Given the description of an element on the screen output the (x, y) to click on. 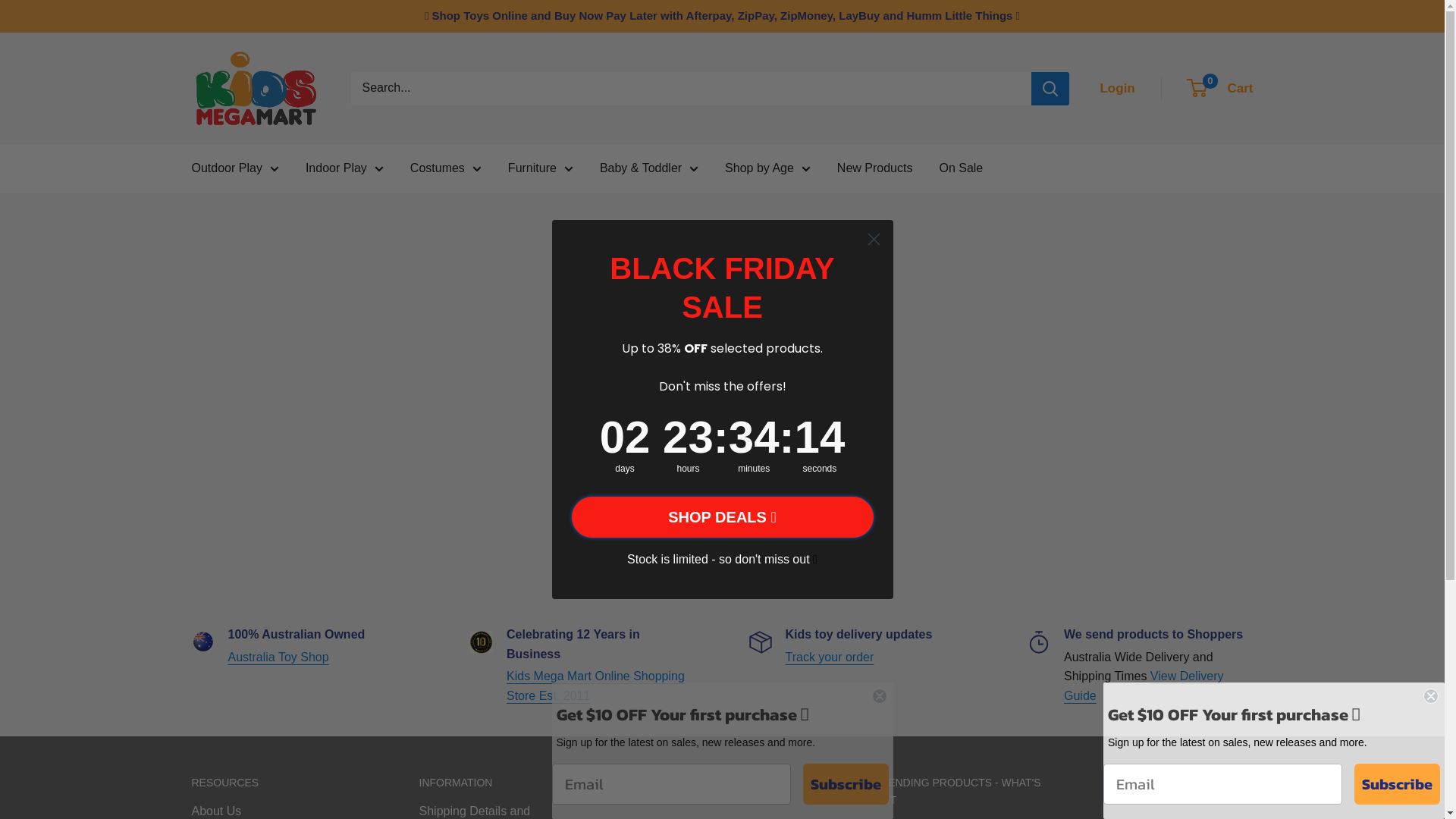
Baby & Toddler Element type: text (648, 167)
Costumes Element type: text (445, 167)
Close dialog 1 Element type: text (879, 695)
Furniture Element type: text (540, 167)
View Delivery Guide Element type: text (1143, 685)
Kids Mega Mart Element type: text (255, 87)
Australia Toy Shop Element type: text (277, 656)
RESOURCES Element type: text (278, 783)
Submit Element type: text (18, 6)
Outdoor Play Element type: text (234, 167)
INFORMATION Element type: text (505, 783)
Indoor Play Element type: text (344, 167)
New Products Element type: text (875, 167)
0
Cart Element type: text (1220, 88)
Track your order Element type: text (829, 656)
Login Element type: text (1116, 88)
Click here to continue shopping Element type: text (721, 483)
Close dialog 14 Element type: text (1430, 695)
On Sale Element type: text (960, 167)
Close dialog 8 Element type: text (872, 238)
BUY NOW PAY LATER PROVIDERS Element type: text (733, 792)
Kids Mega Mart Online Shopping Store Est. 2011 Element type: text (595, 685)
Subscribe Element type: text (1397, 783)
Subscribe Element type: text (845, 783)
Shop by Age Element type: text (767, 167)
TRENDING PRODUCTS - WHAT'S HOT Element type: text (960, 792)
